Given the description of an element on the screen output the (x, y) to click on. 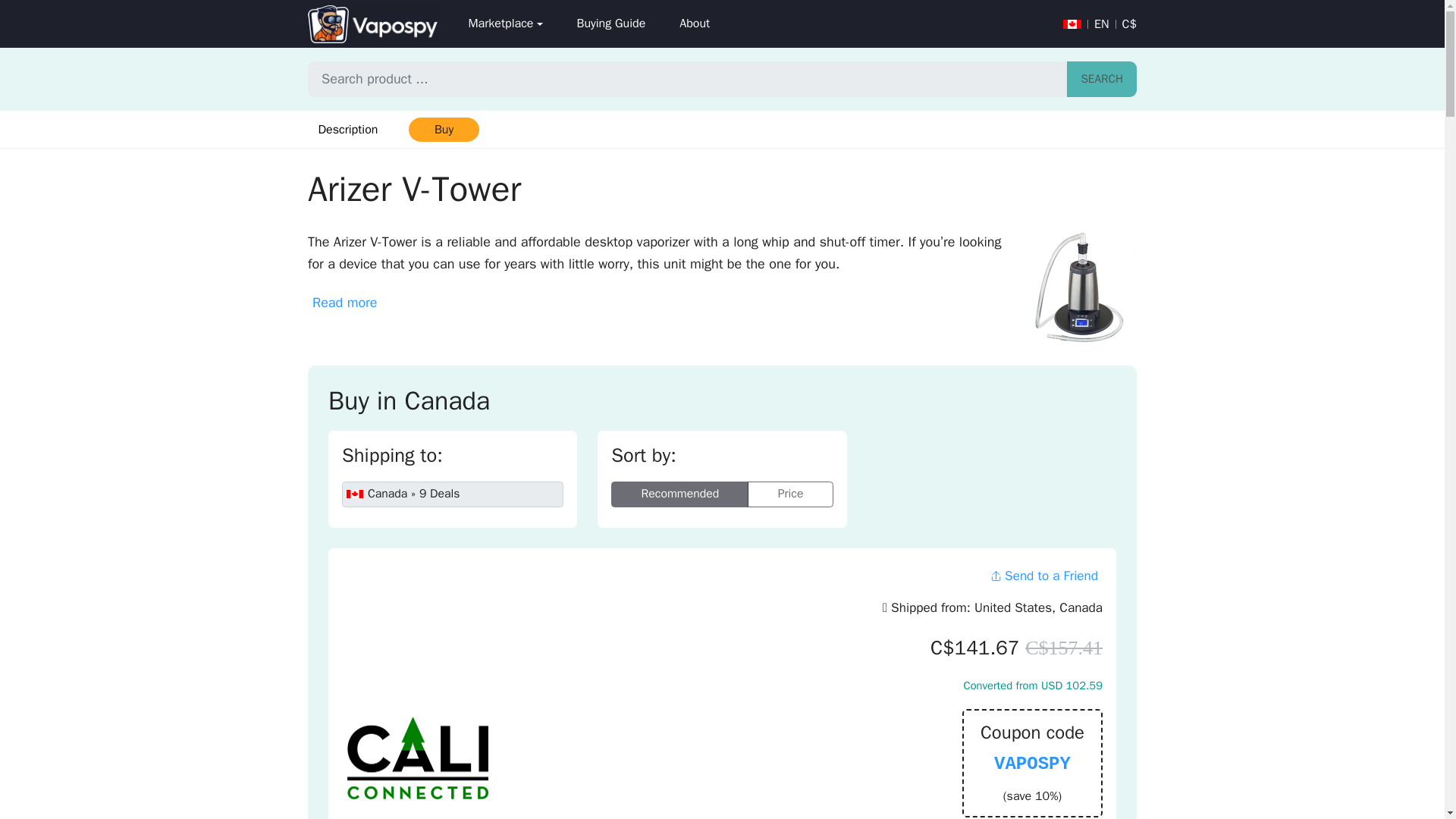
Caliconnected.com (417, 758)
Shipping to: Canada (452, 494)
Read more (344, 302)
SEARCH (1102, 79)
Description (347, 129)
Buying Guide (610, 23)
Recommended (679, 494)
Send to a Friend (1043, 575)
Marketplace (505, 23)
Buy (443, 129)
Price (790, 494)
About (694, 23)
